Given the description of an element on the screen output the (x, y) to click on. 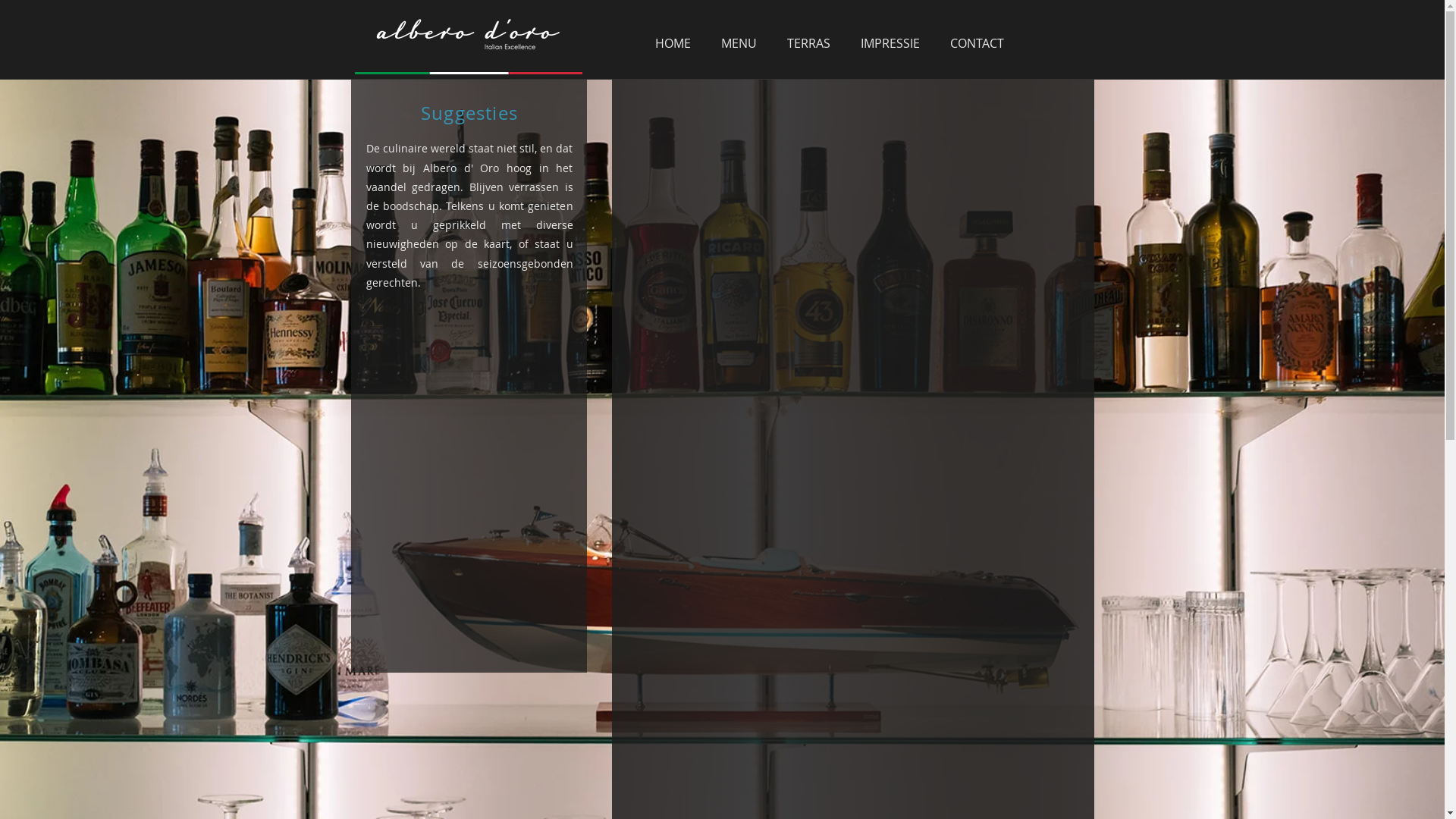
HOME Element type: text (673, 43)
CONTACT Element type: text (977, 43)
TERRAS Element type: text (808, 43)
IMPRESSIE Element type: text (890, 43)
